Given the description of an element on the screen output the (x, y) to click on. 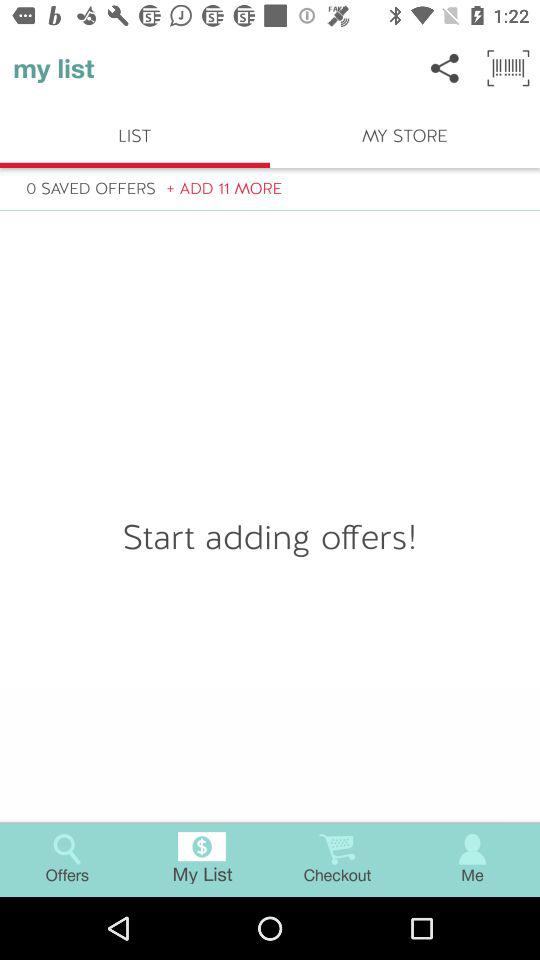
launch item next to my list icon (444, 67)
